Given the description of an element on the screen output the (x, y) to click on. 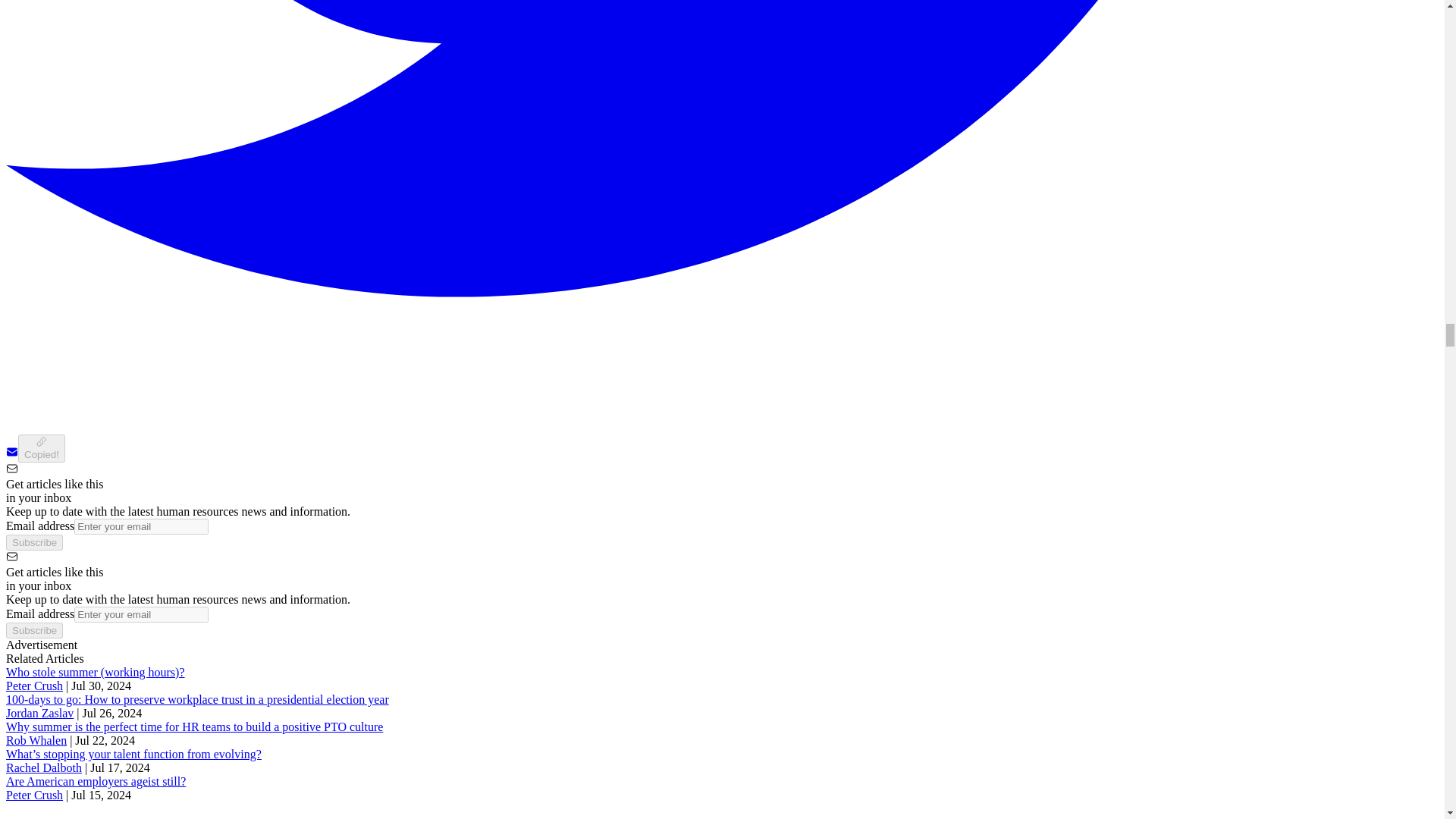
Peter Crush (33, 794)
Jordan Zaslav (39, 712)
Peter Crush (33, 685)
Rob Whalen (35, 739)
Subscribe (33, 542)
Copied! (41, 448)
Rachel Dalboth (43, 767)
Are American employers ageist still? (95, 780)
Subscribe (33, 630)
